Given the description of an element on the screen output the (x, y) to click on. 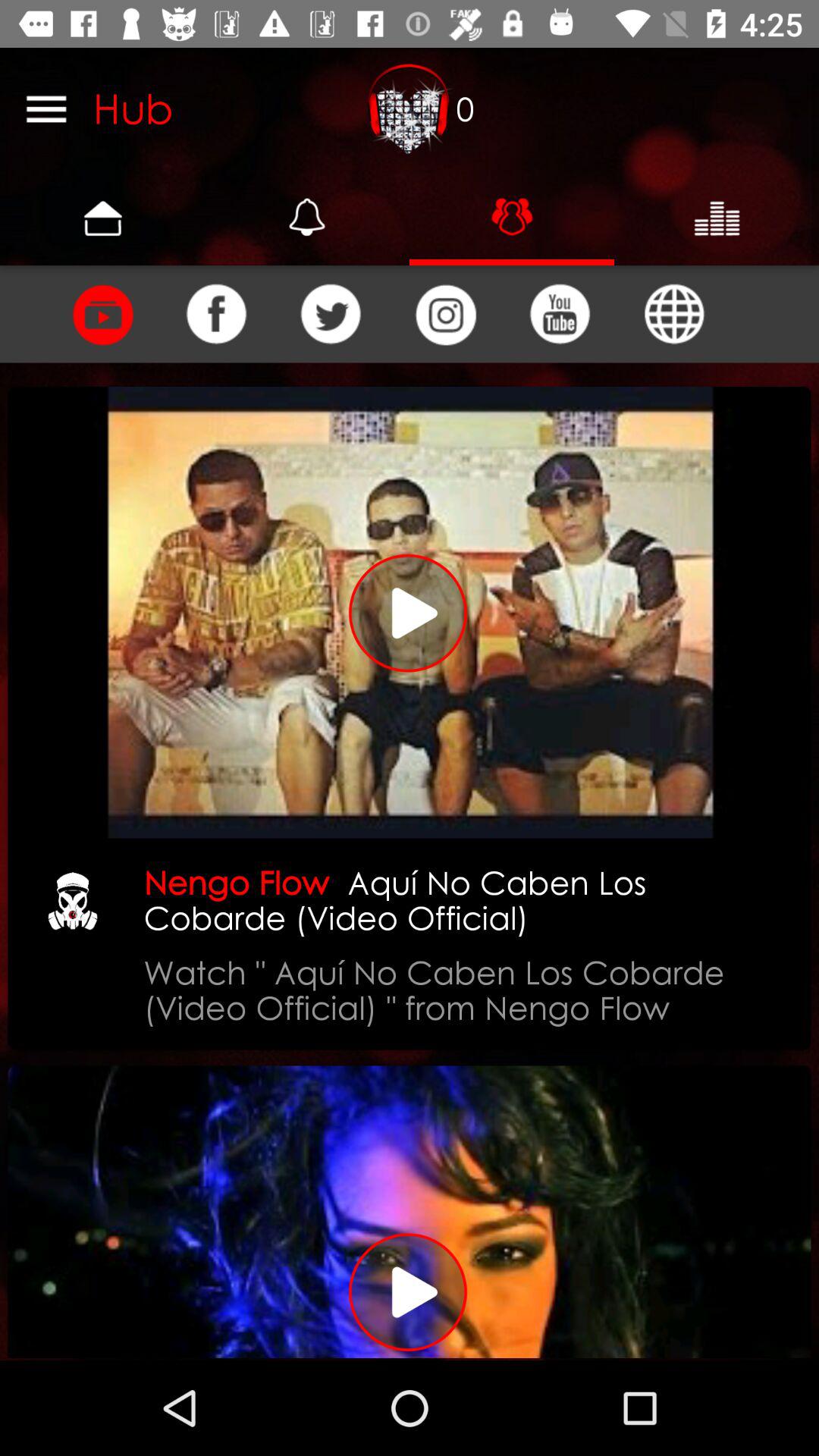
click to play the video (409, 1211)
